Given the description of an element on the screen output the (x, y) to click on. 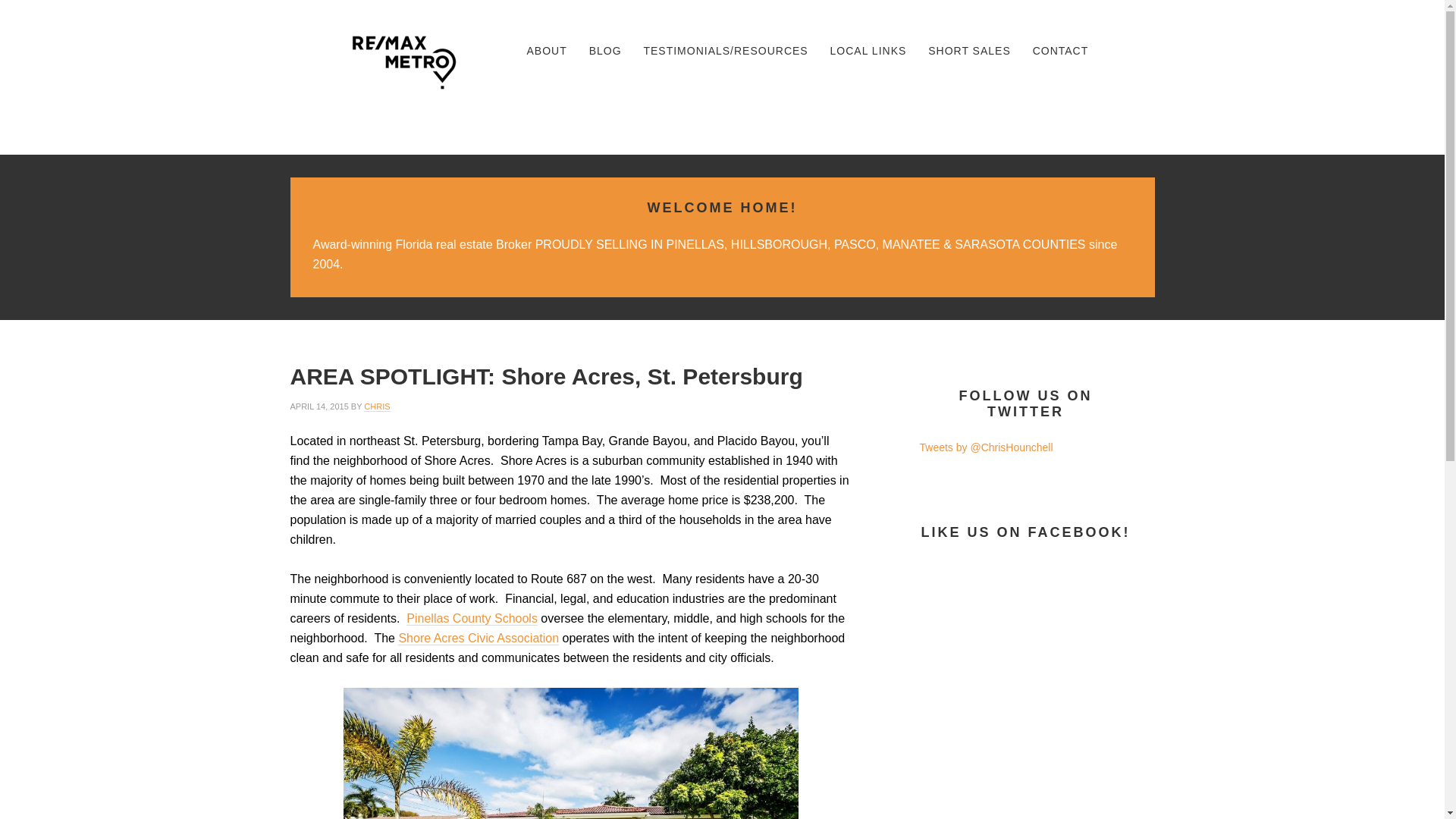
BLOG (604, 51)
SHORT SALES (969, 51)
Facebook (1035, 98)
Facebook (1034, 98)
ABOUT (545, 51)
LOCAL LINKS (868, 51)
CHRIS (377, 406)
CHRIS HOUNCHELL REALTOR (402, 62)
Shore Acres Civic Association (478, 638)
CONTACT (1060, 51)
